Given the description of an element on the screen output the (x, y) to click on. 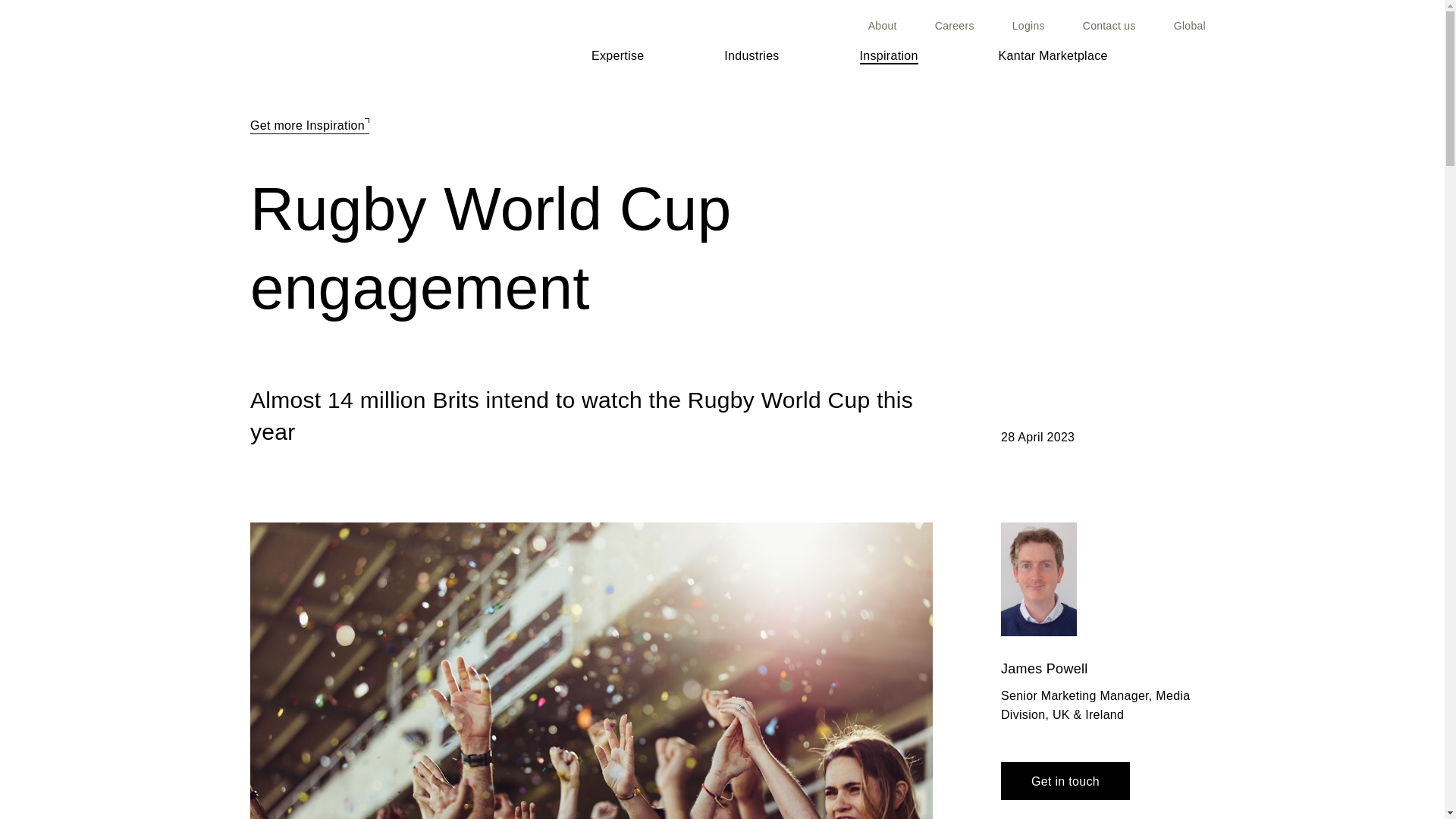
Industries (751, 58)
Kantar Marketplace (1053, 55)
Contact us (1109, 25)
Logins (1028, 25)
Search (1198, 54)
Careers (954, 25)
Expertise (617, 86)
Inspiration (888, 55)
About (881, 25)
